Given the description of an element on the screen output the (x, y) to click on. 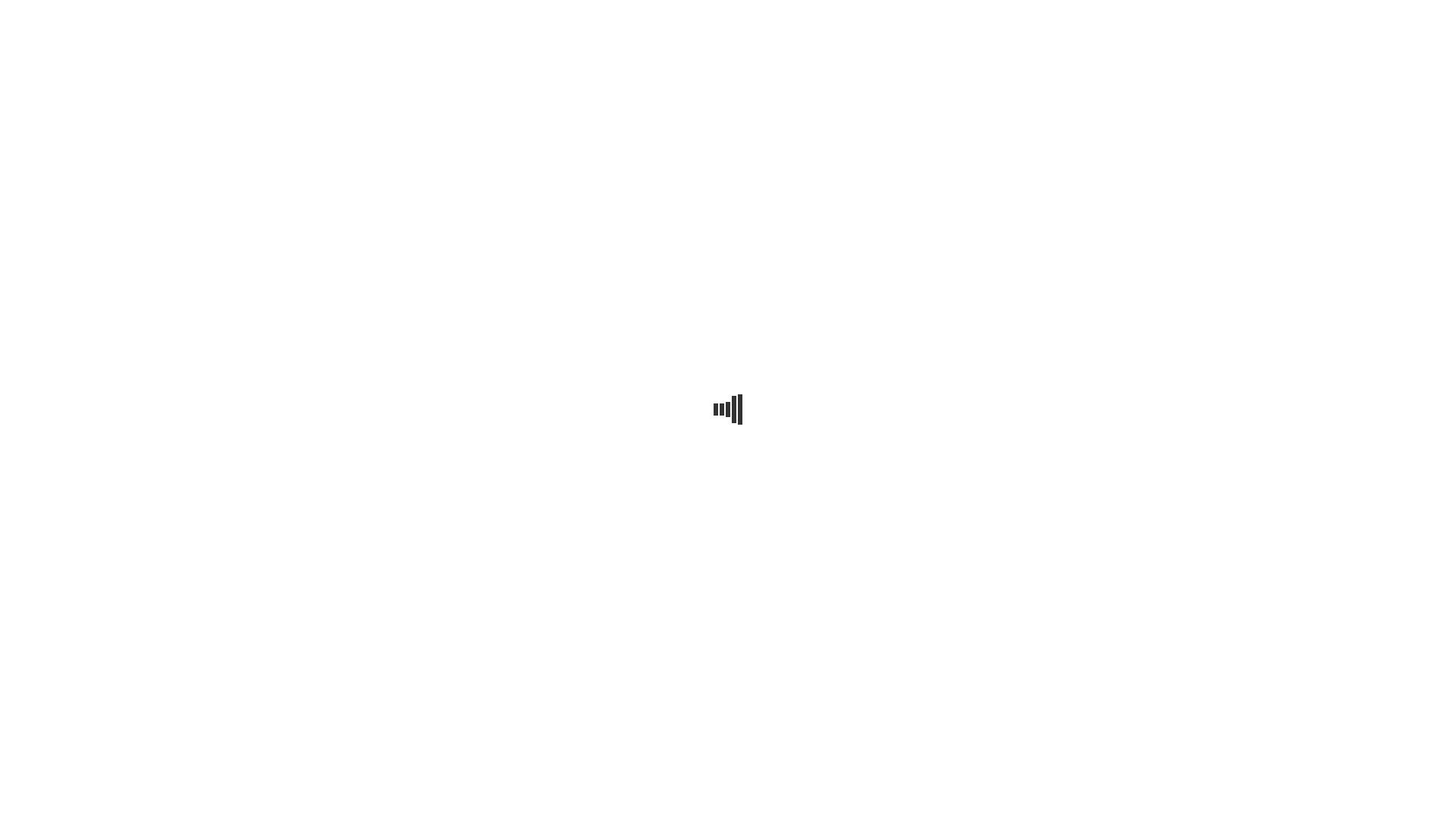
Advertisement Element type: hover (728, 206)
Goroda.by Element type: text (1130, 17)
